Given the description of an element on the screen output the (x, y) to click on. 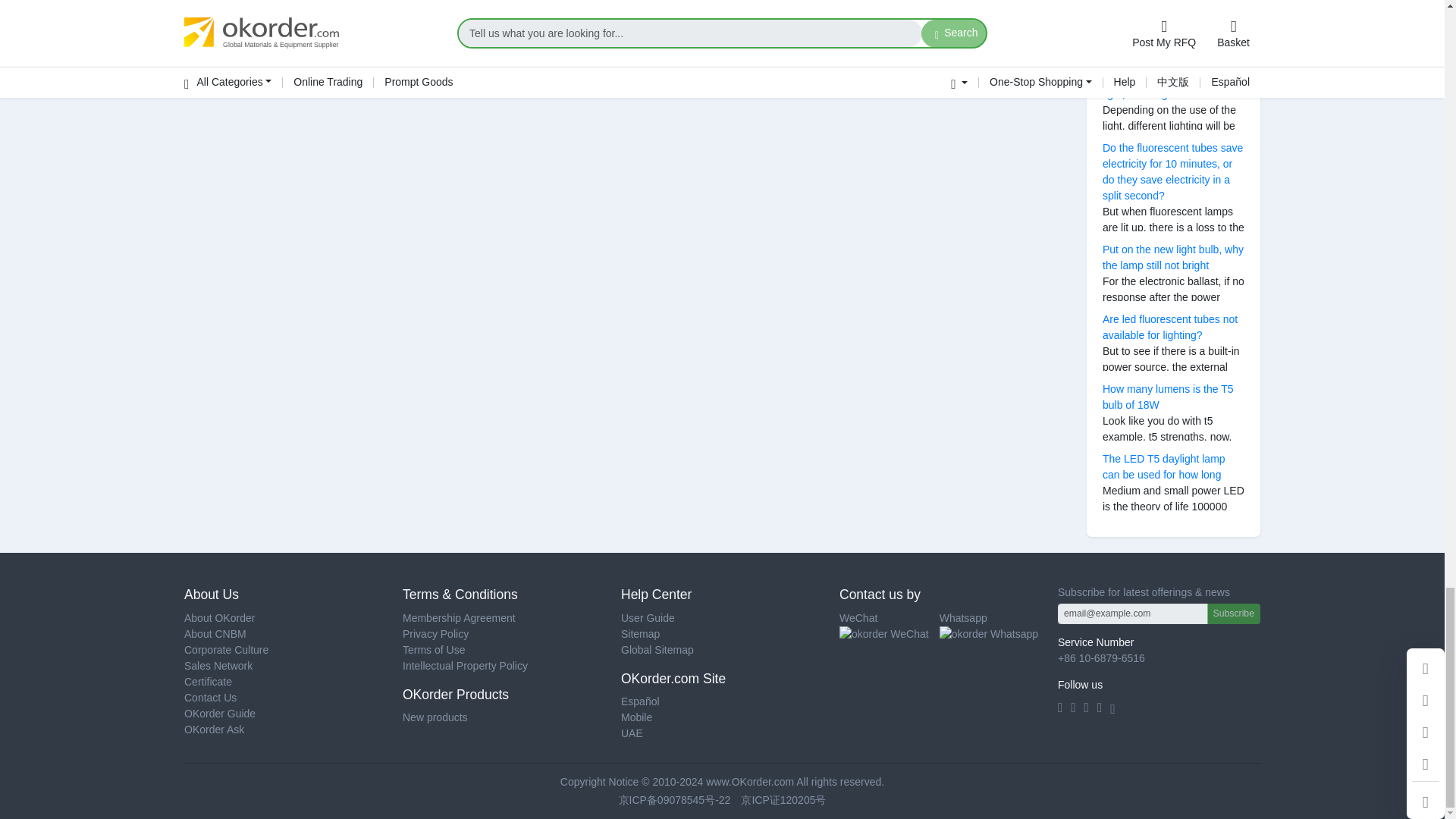
Subscribe (1233, 613)
